Given the description of an element on the screen output the (x, y) to click on. 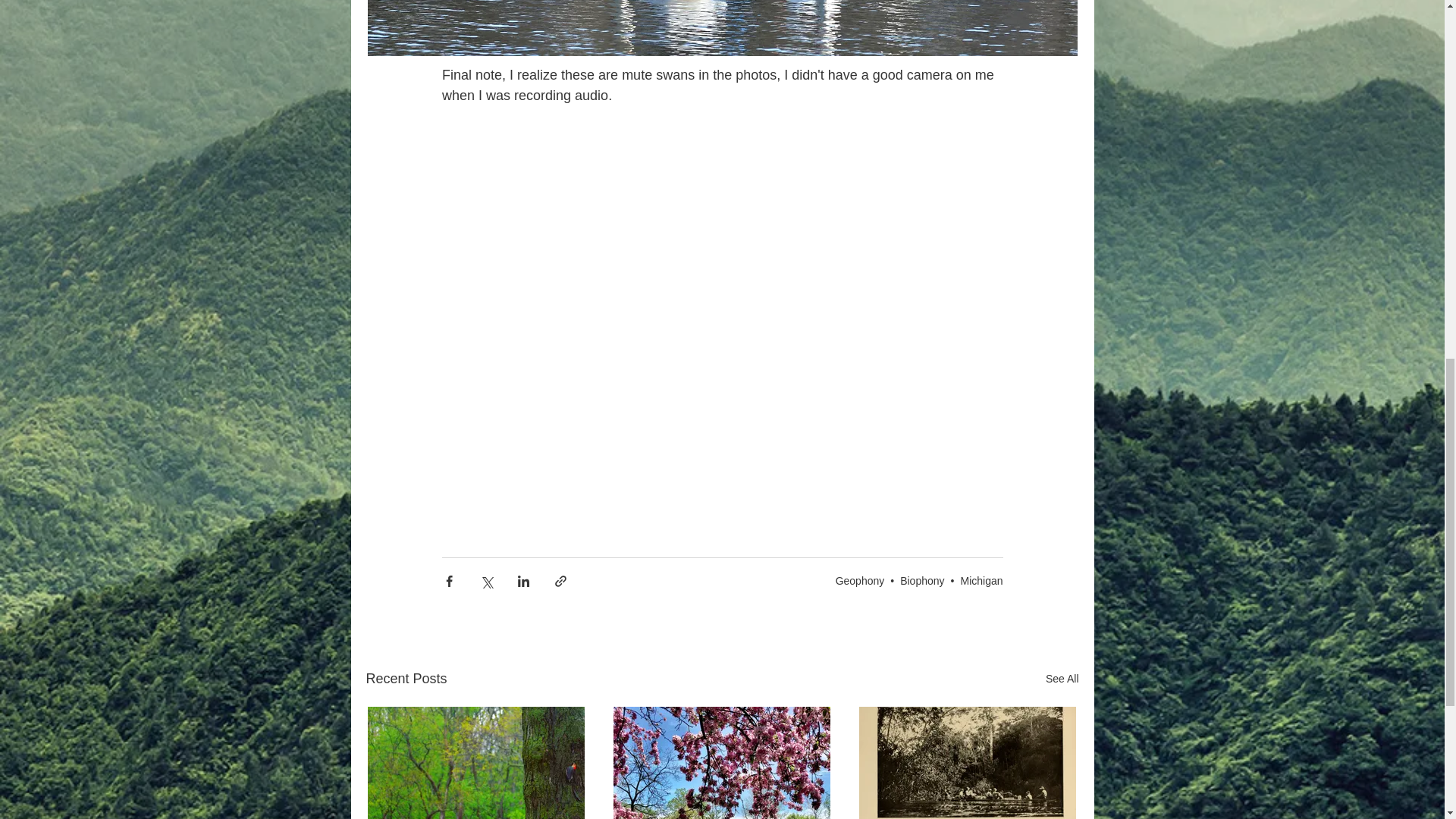
Geophony (860, 580)
Biophony (921, 580)
See All (1061, 679)
Michigan (981, 580)
